Given the description of an element on the screen output the (x, y) to click on. 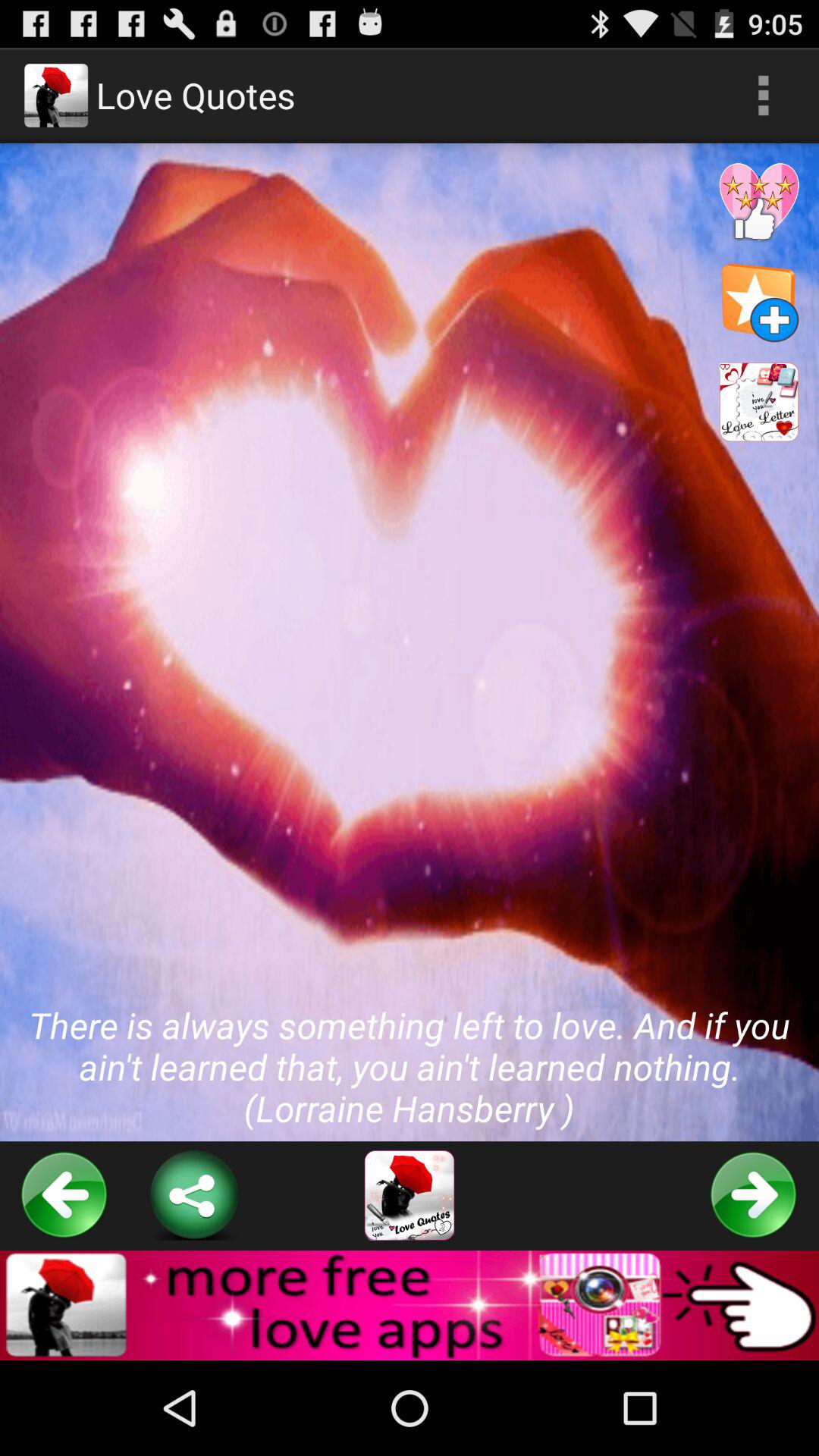
open the app next to love quotes icon (763, 95)
